Given the description of an element on the screen output the (x, y) to click on. 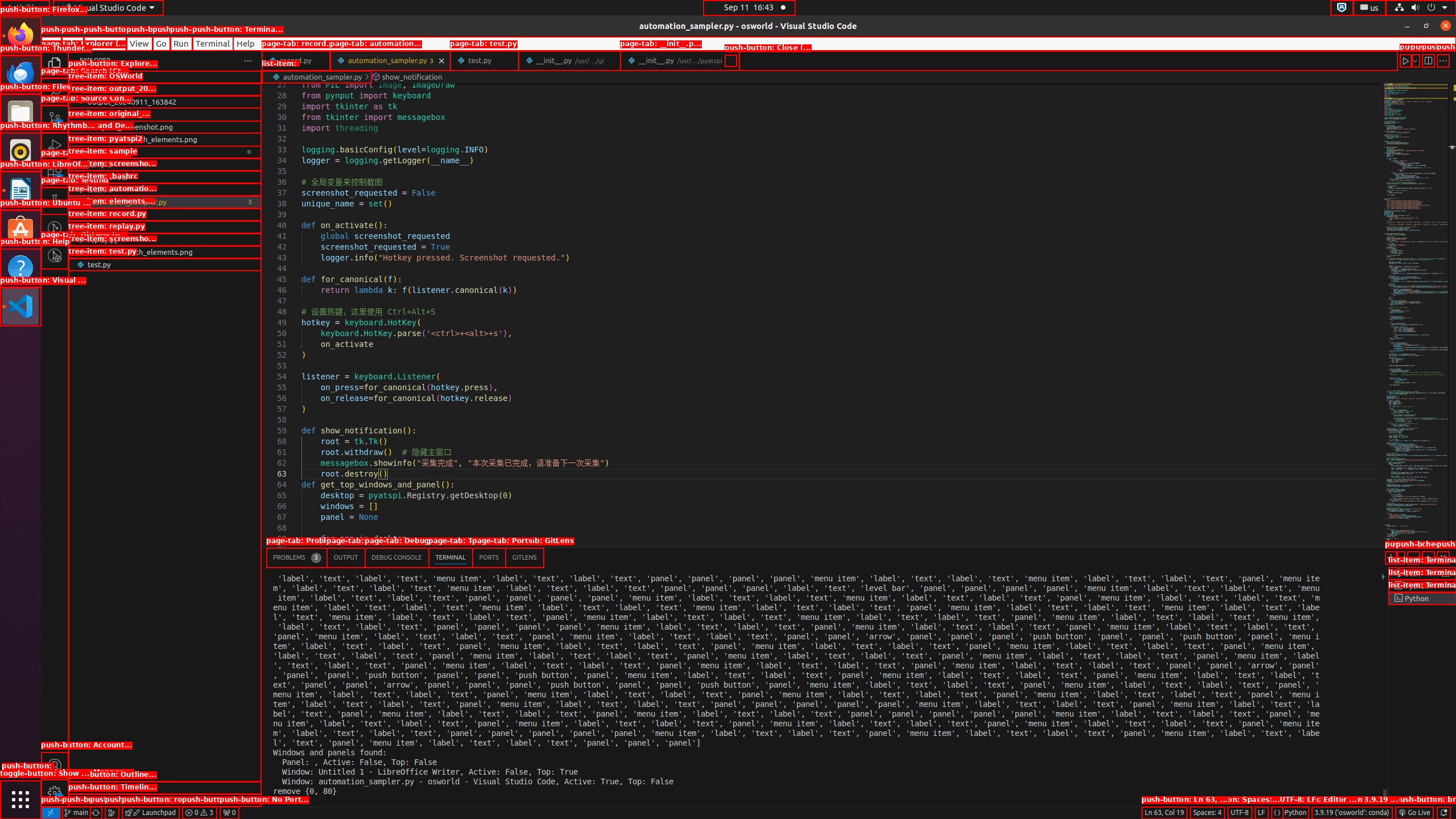
3.9.19 ('osworld': conda), ~/anaconda3/envs/osworld/bin/python Element type: push-button (1351, 812)
Editor Language Status: Auto Import Completions: false, next: Type Checking: off Element type: push-button (1277, 812)
Run or Debug... Element type: push-button (1414, 60)
.bashrc Element type: tree-item (164, 189)
output_20240911_163842 Element type: tree-item (164, 101)
